Given the description of an element on the screen output the (x, y) to click on. 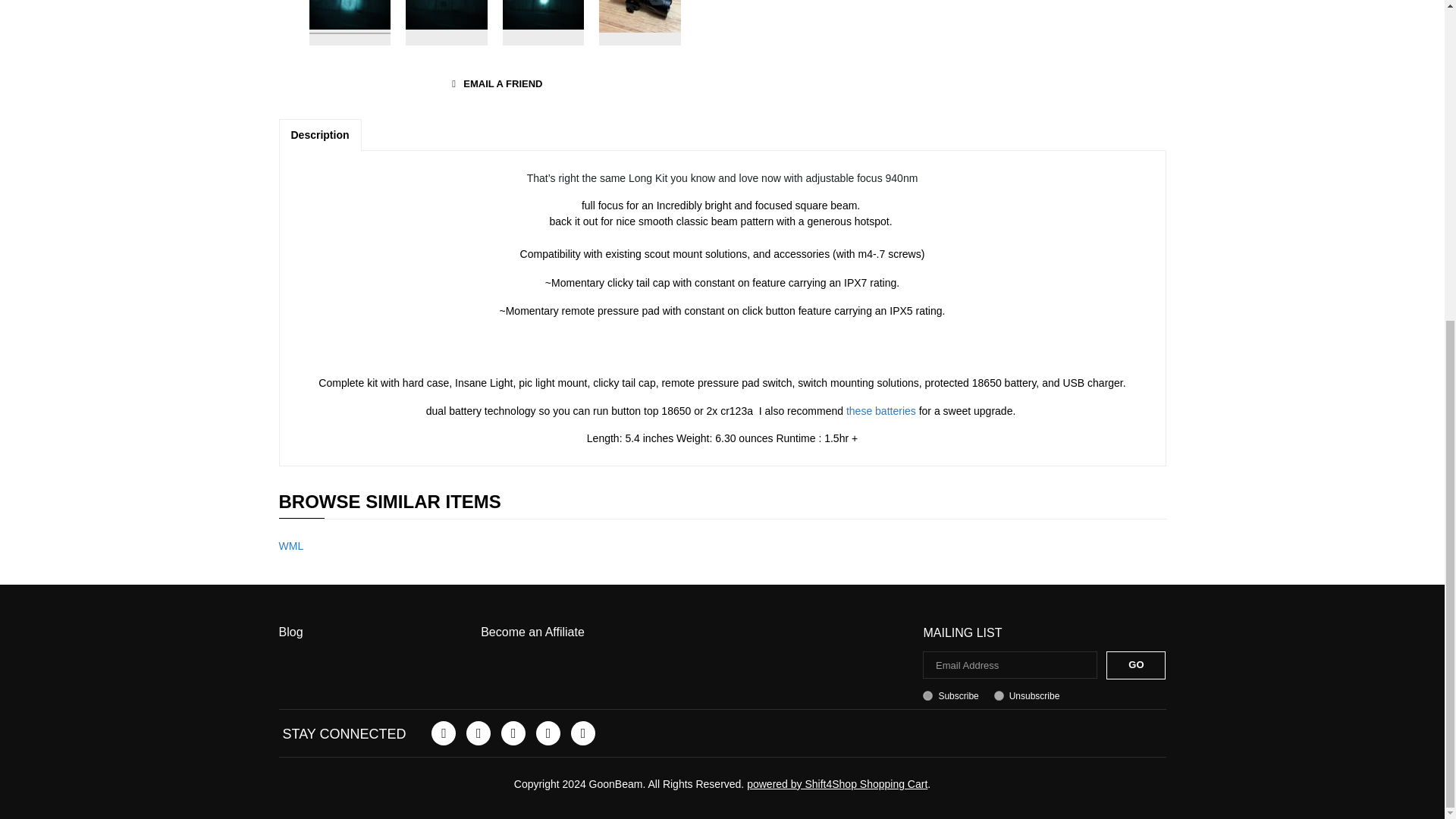
Like Us on Facebook (442, 733)
1 (928, 696)
Follow Us on Pinterest (547, 733)
Subscribe to our Channel (512, 733)
Thumbnail (349, 22)
Thumbnail (542, 22)
EMAIL A FRIEND (494, 84)
Follow Us on Twitter (477, 733)
Thumbnail (446, 22)
